Given the description of an element on the screen output the (x, y) to click on. 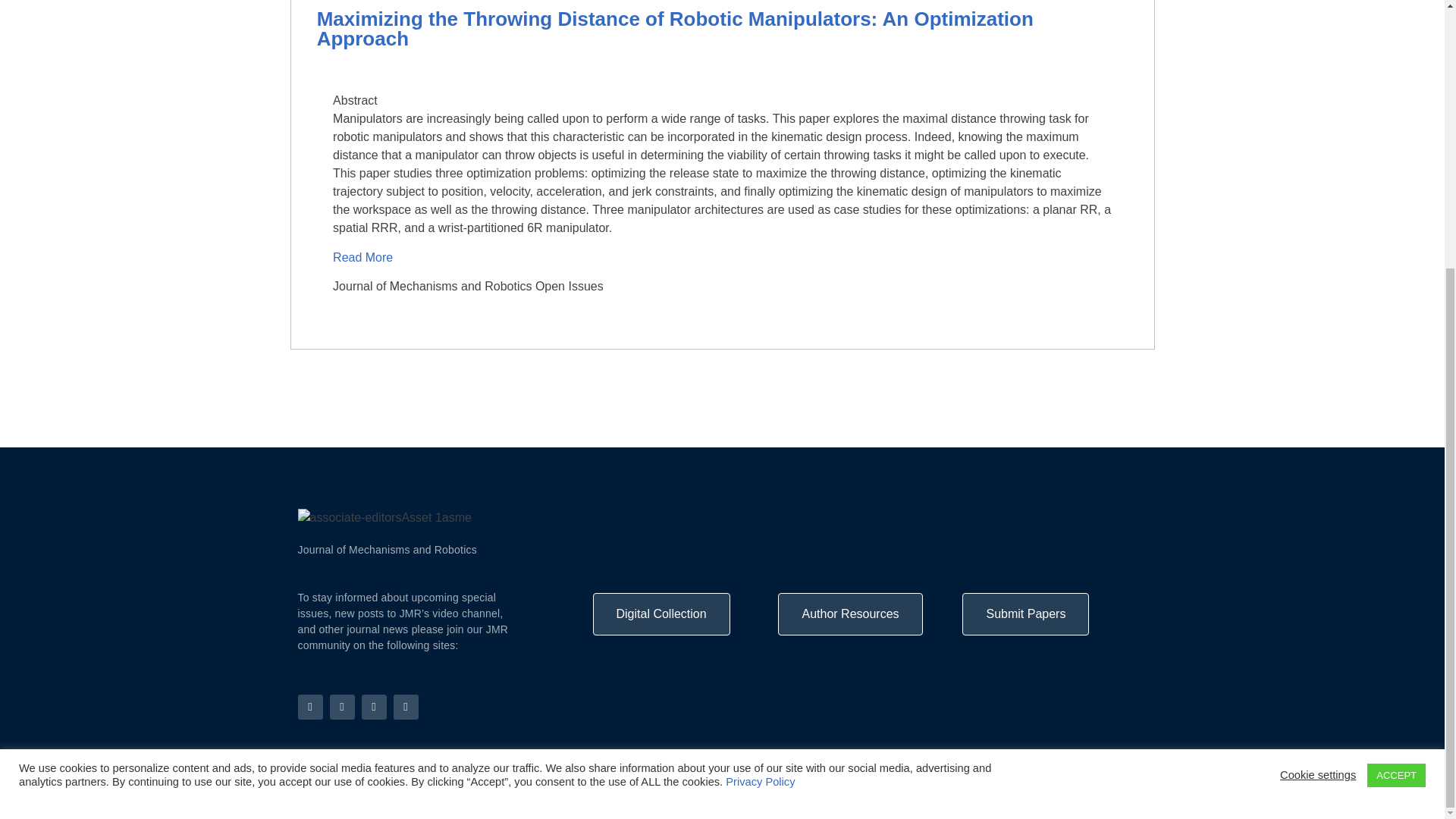
Digital Collection (661, 613)
Cookie settings (1317, 383)
Privacy Policy (759, 390)
ACCEPT (1396, 383)
Privacy Policy (1118, 799)
Submit Papers (1025, 613)
associate-editorsAsset 1asme (383, 517)
Author Resources (849, 613)
Read More (363, 256)
